Given the description of an element on the screen output the (x, y) to click on. 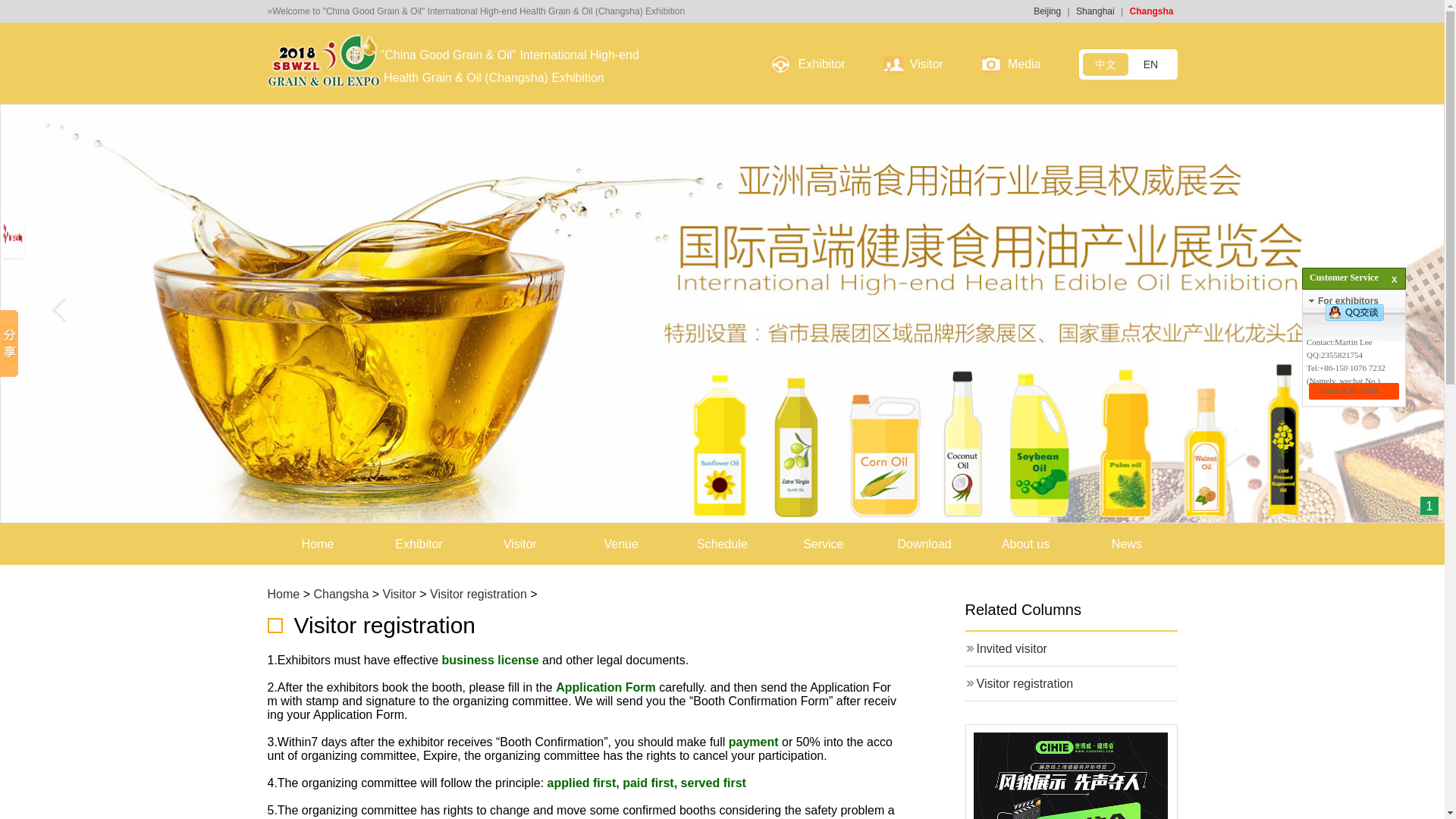
Venue (620, 544)
Schedule (722, 544)
Shanghai (1095, 10)
Exhibitor (418, 544)
EN (1150, 64)
Beijing (1047, 10)
Visitor (926, 63)
Visitor (519, 544)
Exhibitor (820, 63)
Changsha (1151, 10)
